Given the description of an element on the screen output the (x, y) to click on. 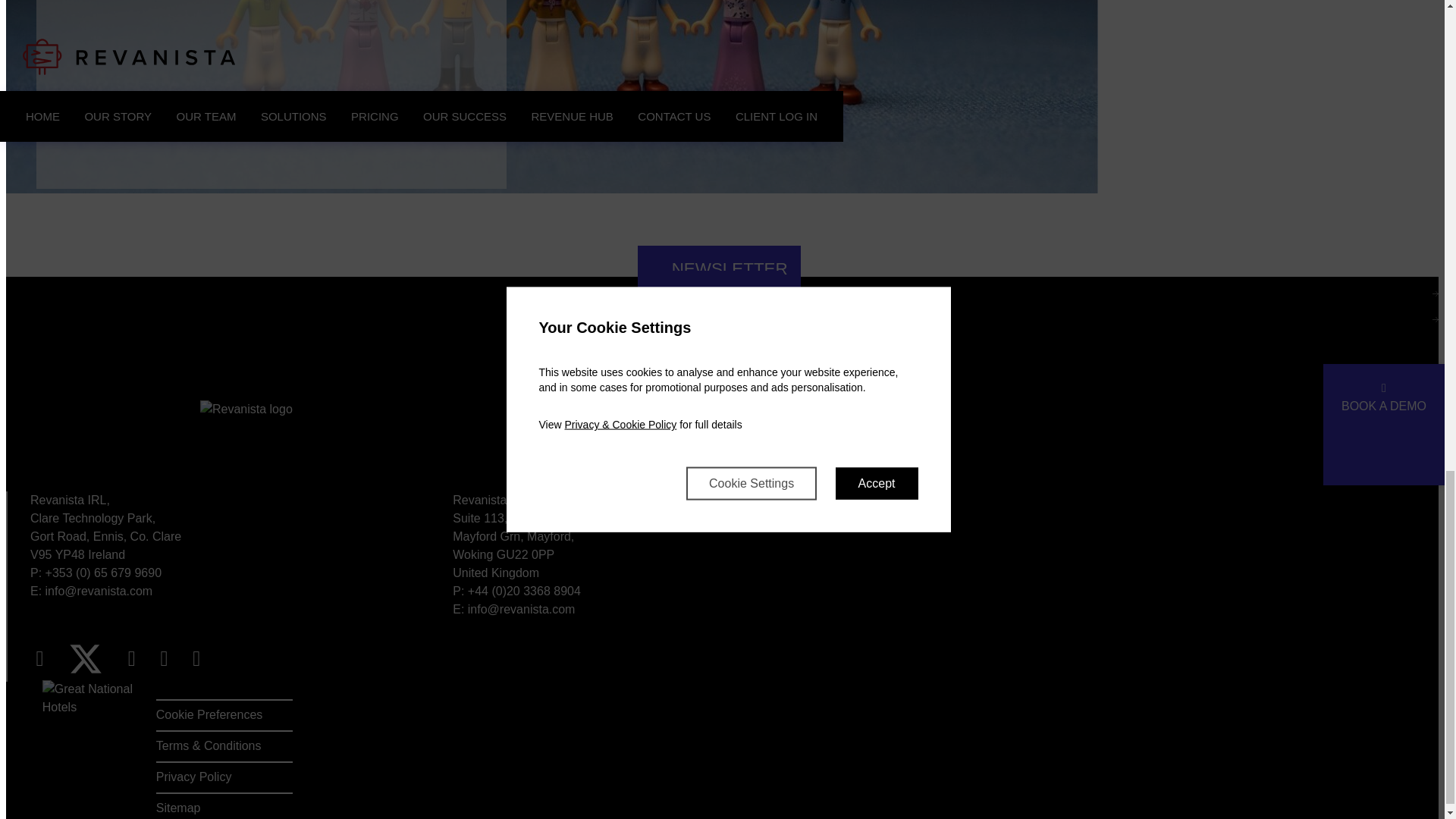
Contact Us (719, 293)
Great National Hotels (98, 727)
Follow us on Twitter (92, 658)
Sign up for newsletters (719, 268)
Contact Us by email (521, 608)
Revanista logo (148, 445)
Contact Us by email (98, 590)
Contact Us by phone (103, 572)
Customer portal (718, 319)
Contact Us by phone (523, 590)
